Given the description of an element on the screen output the (x, y) to click on. 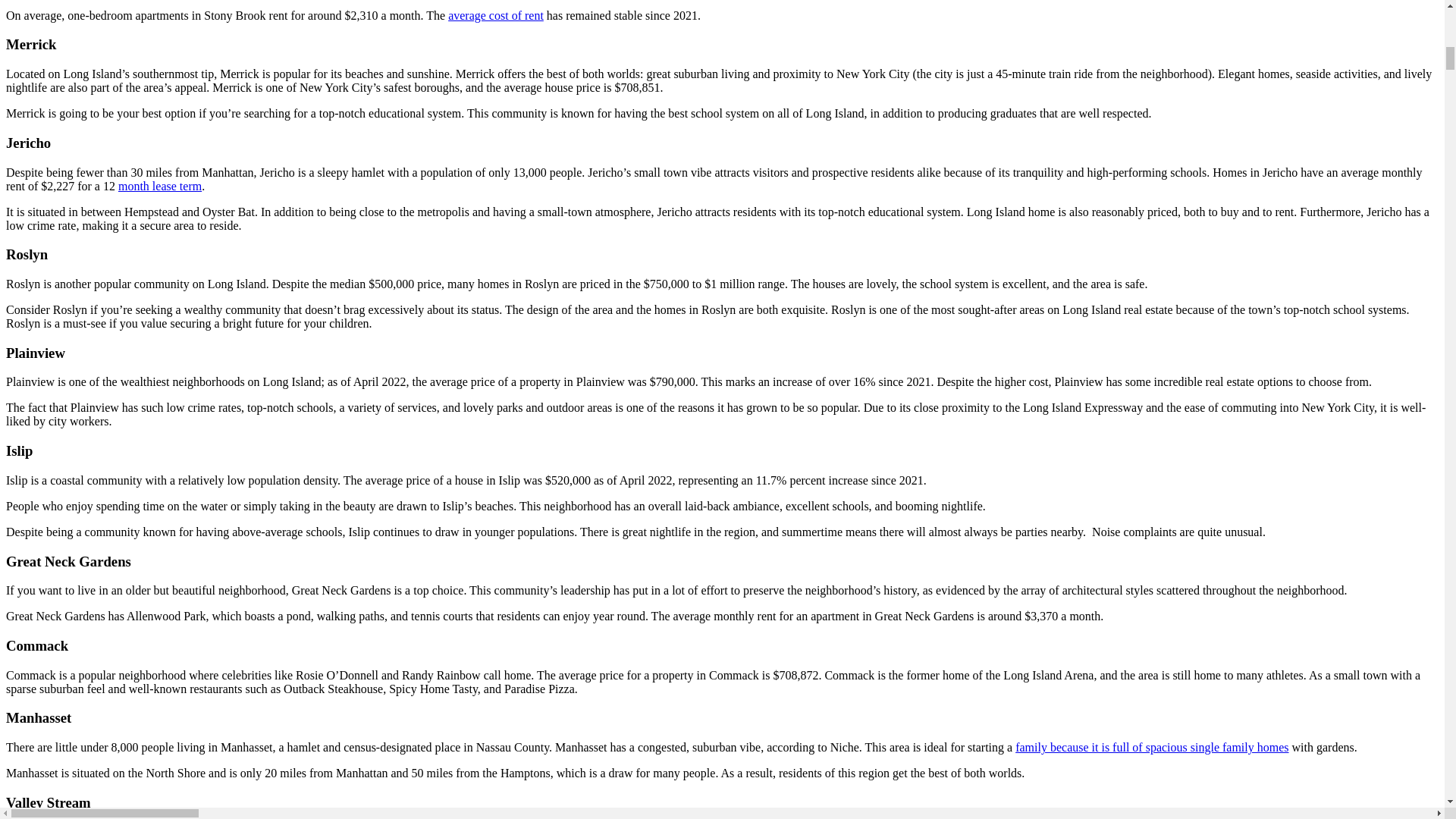
average cost of rent (495, 15)
family because it is full of spacious single family homes (1151, 747)
month lease term (159, 185)
